Given the description of an element on the screen output the (x, y) to click on. 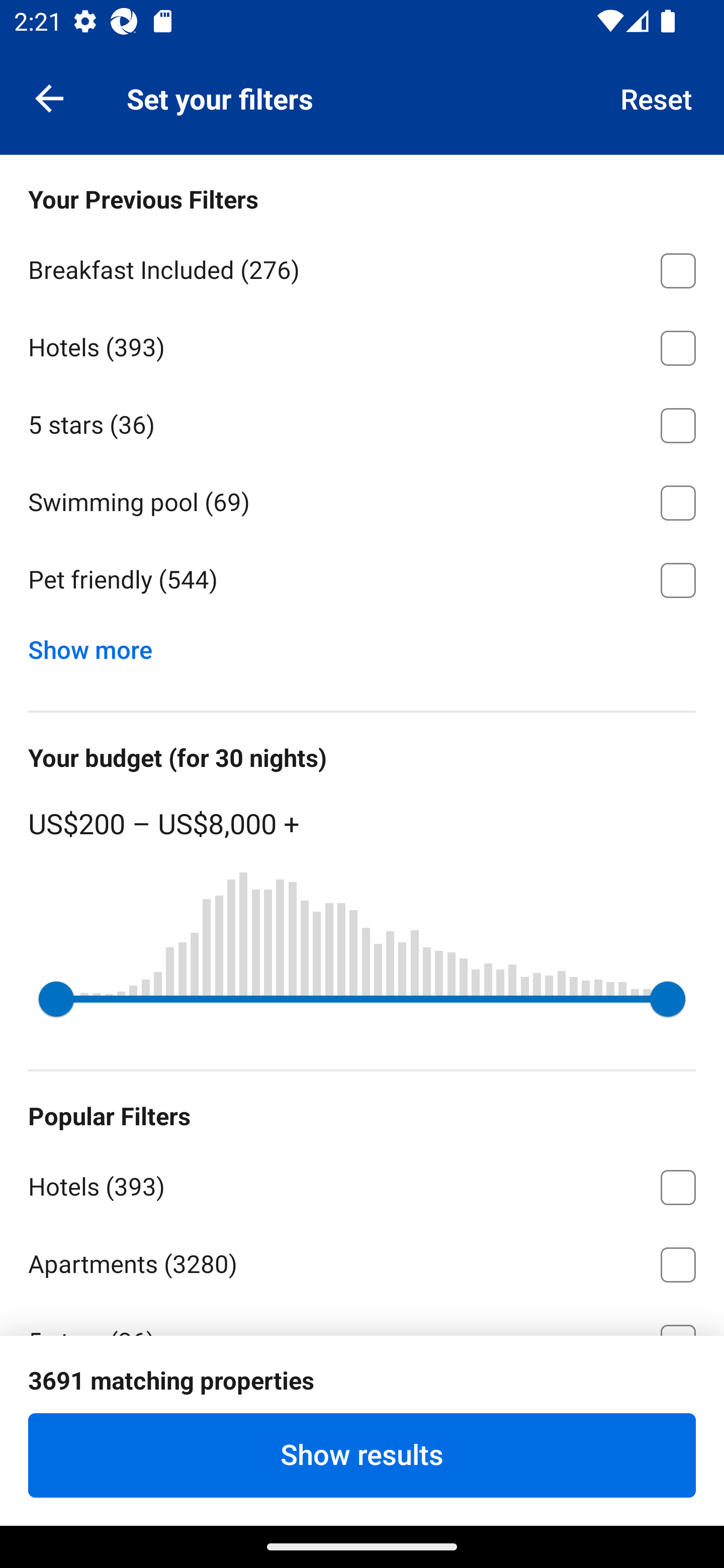
Navigate up (49, 97)
Reset (656, 97)
Breakfast Included ⁦(276) (361, 266)
Hotels ⁦(393) (361, 344)
5 stars ⁦(36) (361, 422)
Swimming pool ⁦(69) (361, 498)
Pet friendly ⁦(544) (361, 579)
Show more (97, 645)
Hotels ⁦(393) (361, 1183)
Apartments ⁦(3280) (361, 1261)
Show results (361, 1454)
